Given the description of an element on the screen output the (x, y) to click on. 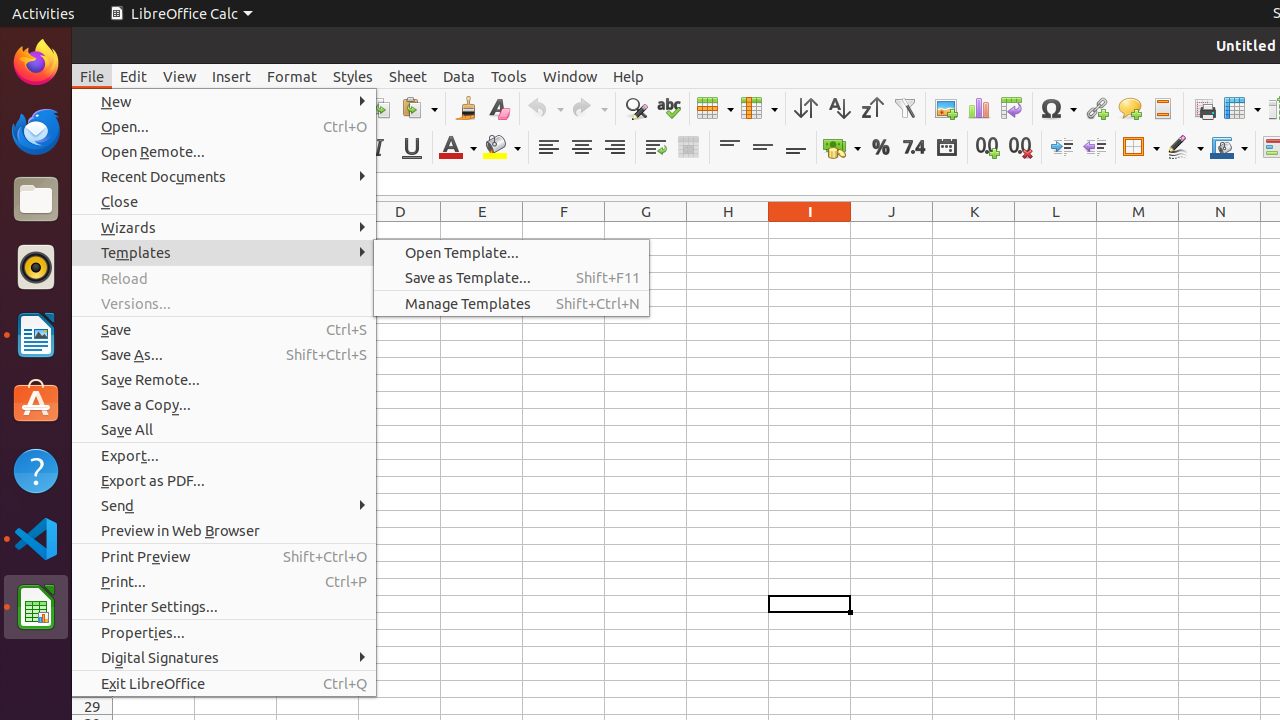
Templates Element type: menu (224, 252)
File Element type: menu (92, 76)
Save as Template... Element type: menu-item (511, 277)
Pivot Table Element type: push-button (1011, 108)
Printer Settings... Element type: menu-item (224, 606)
